Given the description of an element on the screen output the (x, y) to click on. 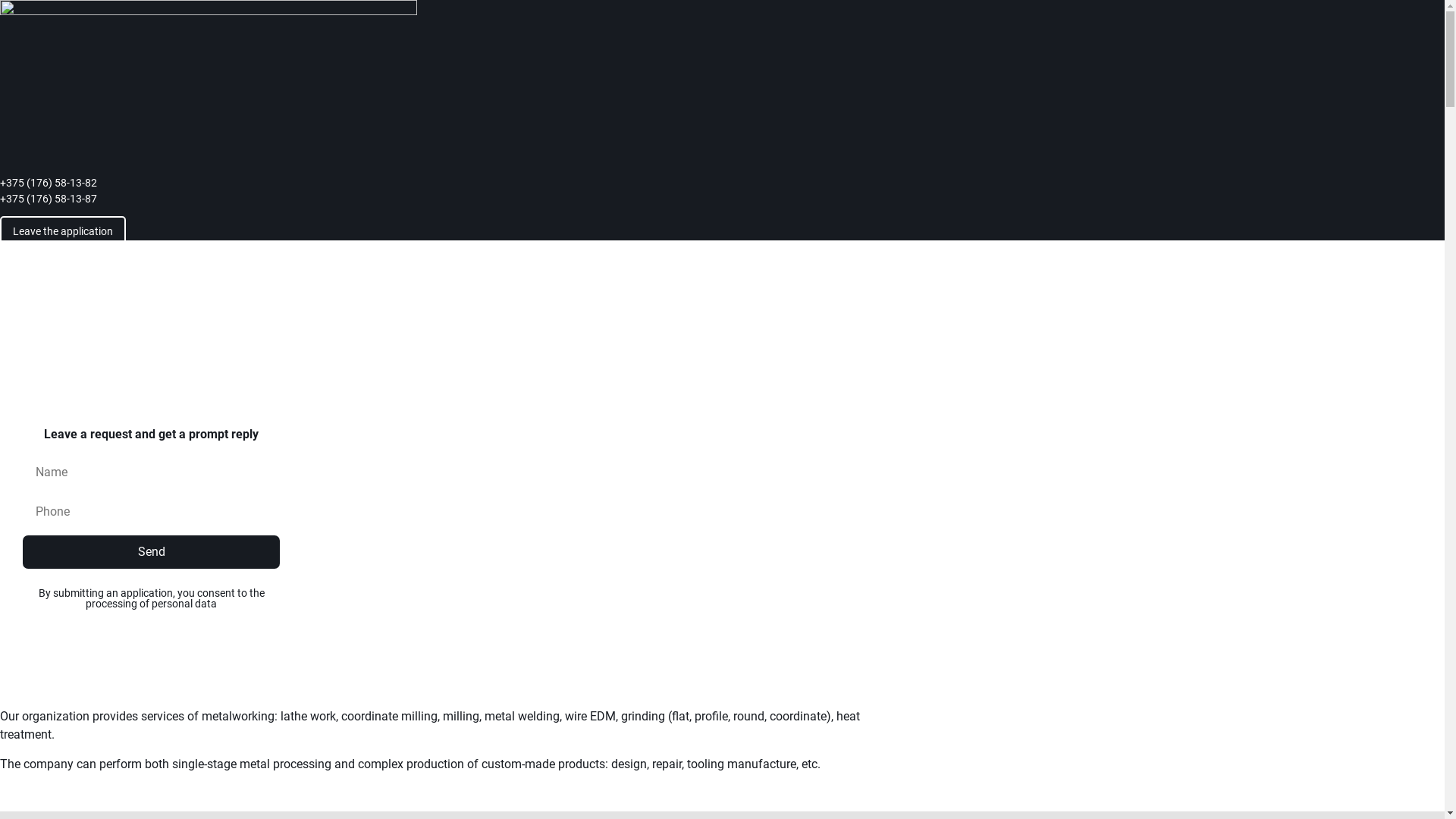
belhol.by Element type: text (24, 333)
+375 (176) 58-13-87 Element type: text (148, 199)
Leave the application Element type: text (62, 231)
+375 (176) 58-13-82 Element type: text (148, 183)
Services Element type: text (81, 333)
Send Element type: text (150, 551)
